Given the description of an element on the screen output the (x, y) to click on. 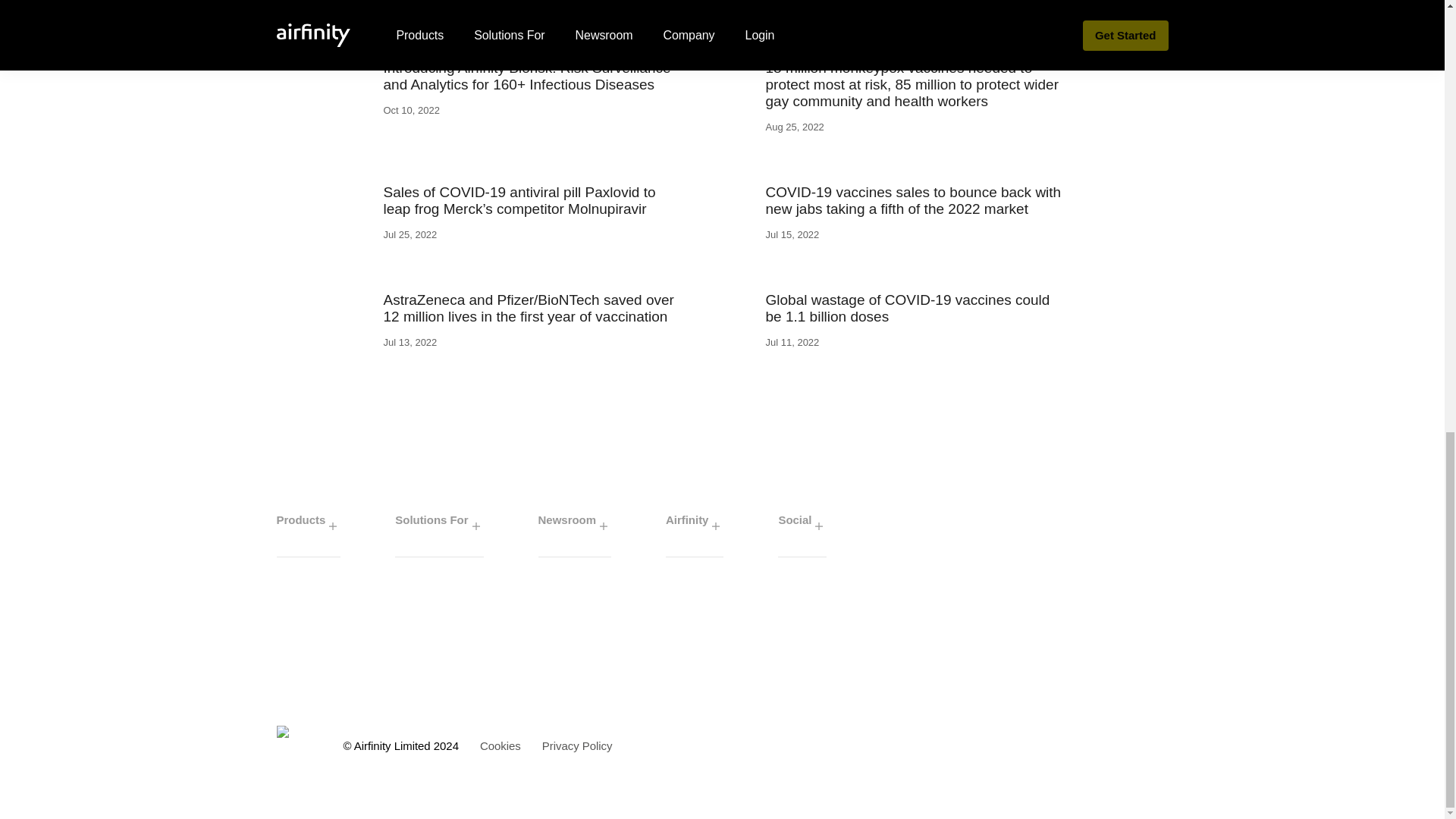
Privacy Policy (576, 745)
Cookie Policy (500, 745)
Solutions For (438, 525)
iframe (721, 638)
Products (308, 525)
